Given the description of an element on the screen output the (x, y) to click on. 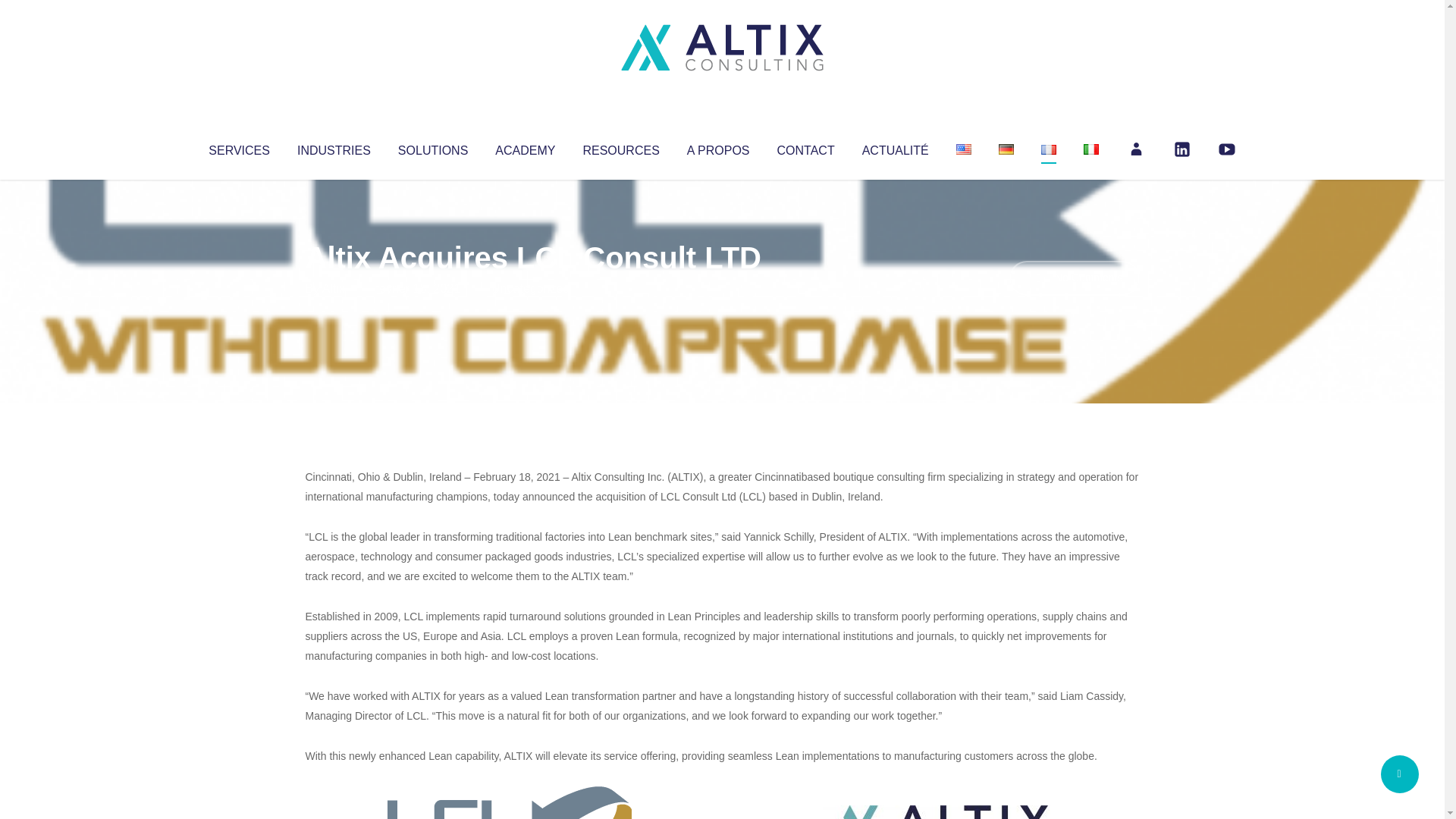
SOLUTIONS (432, 146)
ACADEMY (524, 146)
Articles par Altix (333, 287)
Altix (333, 287)
RESOURCES (620, 146)
No Comments (1073, 278)
A PROPOS (718, 146)
Uncategorized (530, 287)
SERVICES (238, 146)
INDUSTRIES (334, 146)
